Given the description of an element on the screen output the (x, y) to click on. 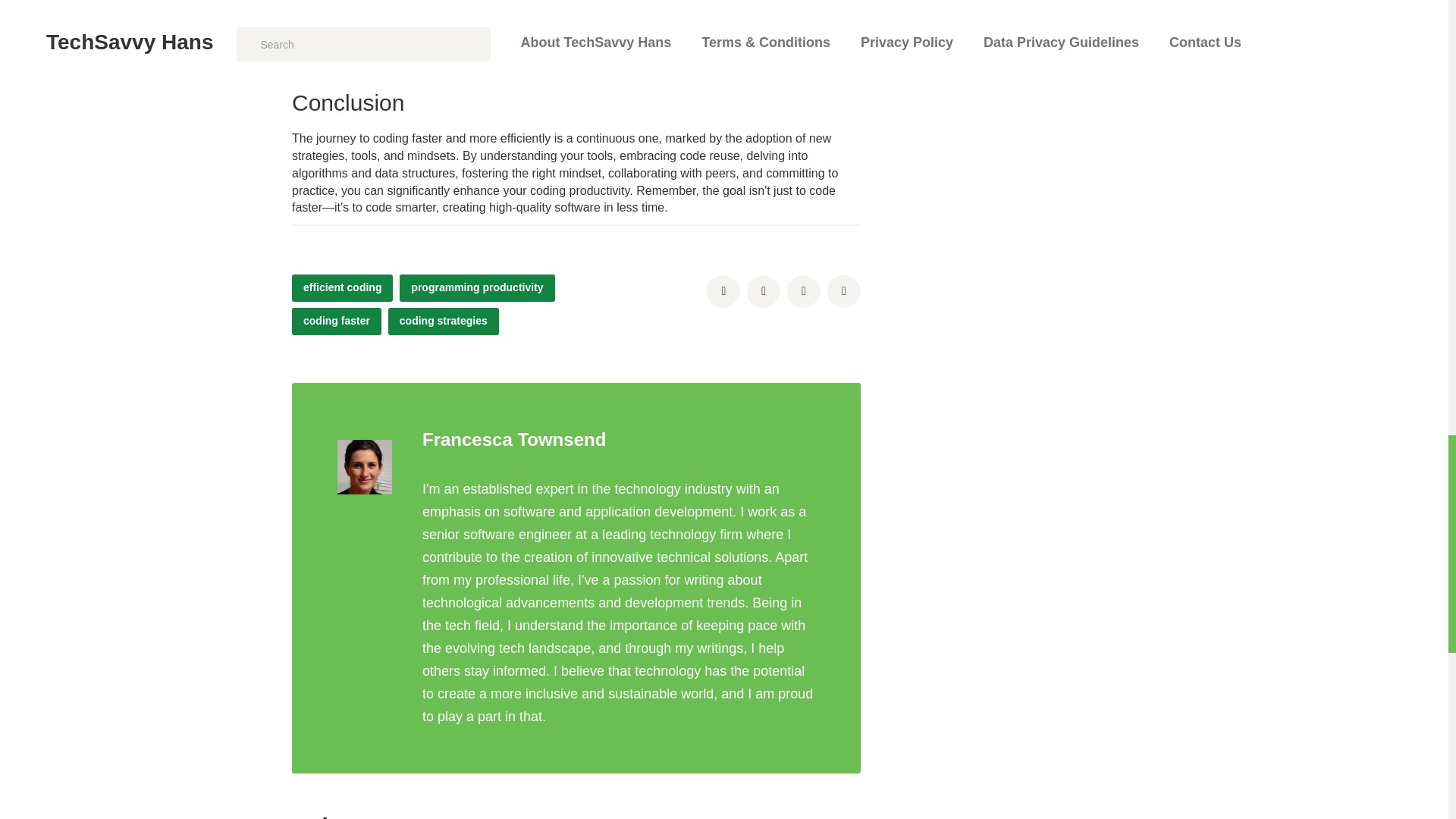
efficient coding (342, 288)
coding strategies (443, 320)
coding faster (336, 320)
programming productivity (476, 288)
